Given the description of an element on the screen output the (x, y) to click on. 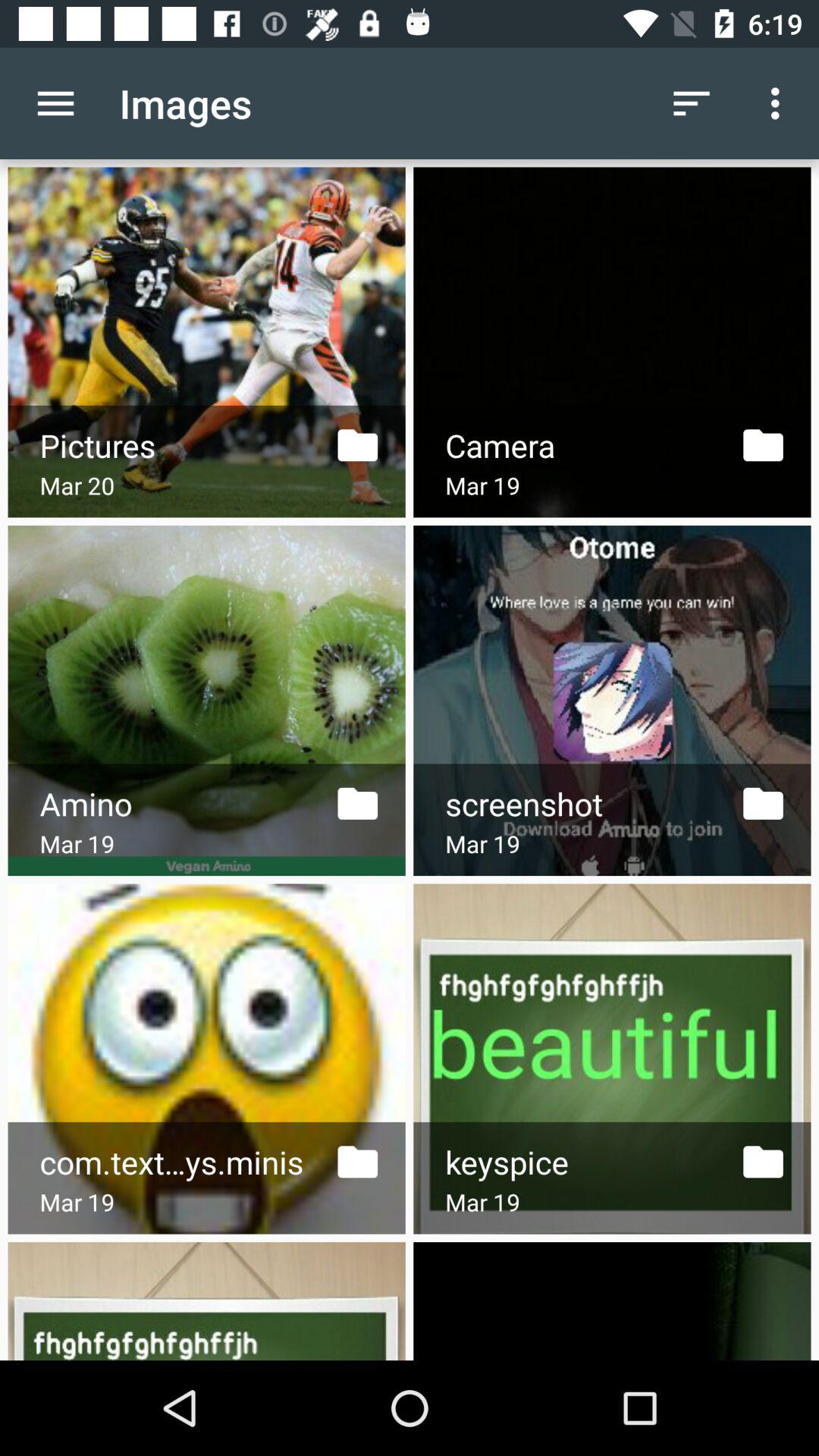
tap the app to the left of images icon (55, 103)
